Given the description of an element on the screen output the (x, y) to click on. 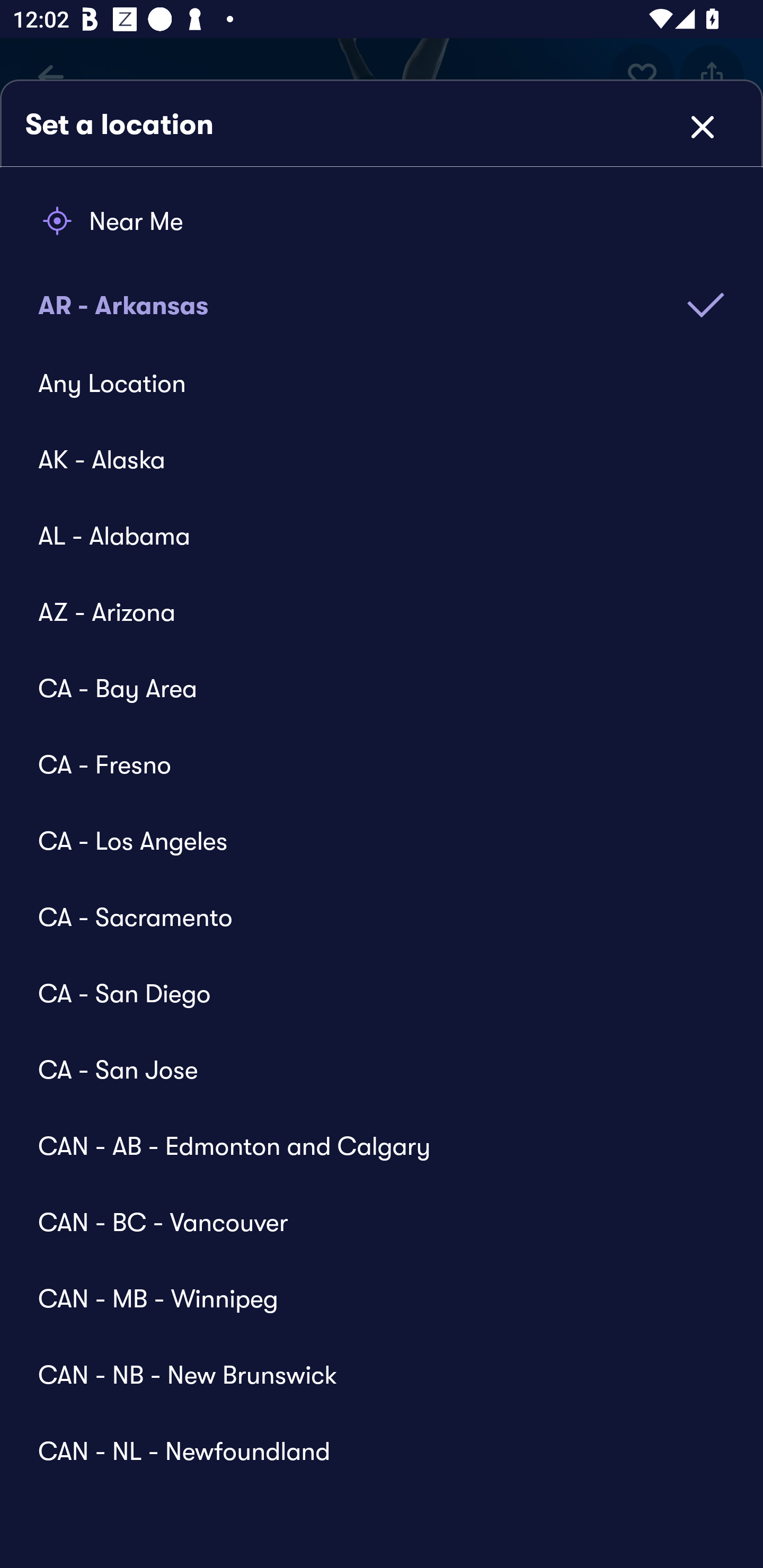
Near Me (381, 220)
AR - Arkansas (381, 292)
Any Location (368, 382)
AK - Alaska (368, 459)
AL - Alabama (368, 535)
AZ - Arizona (368, 611)
CA - Bay Area (368, 687)
CA - Fresno (368, 763)
CA - Los Angeles (368, 840)
CA - Sacramento (368, 916)
CA - San Diego (368, 992)
CA - San Jose (368, 1069)
CAN - AB - Edmonton and Calgary (368, 1145)
CAN - BC - Vancouver (368, 1221)
CAN - MB - Winnipeg (368, 1297)
CAN - NB - New Brunswick (368, 1373)
CAN - NL - Newfoundland (368, 1440)
